Given the description of an element on the screen output the (x, y) to click on. 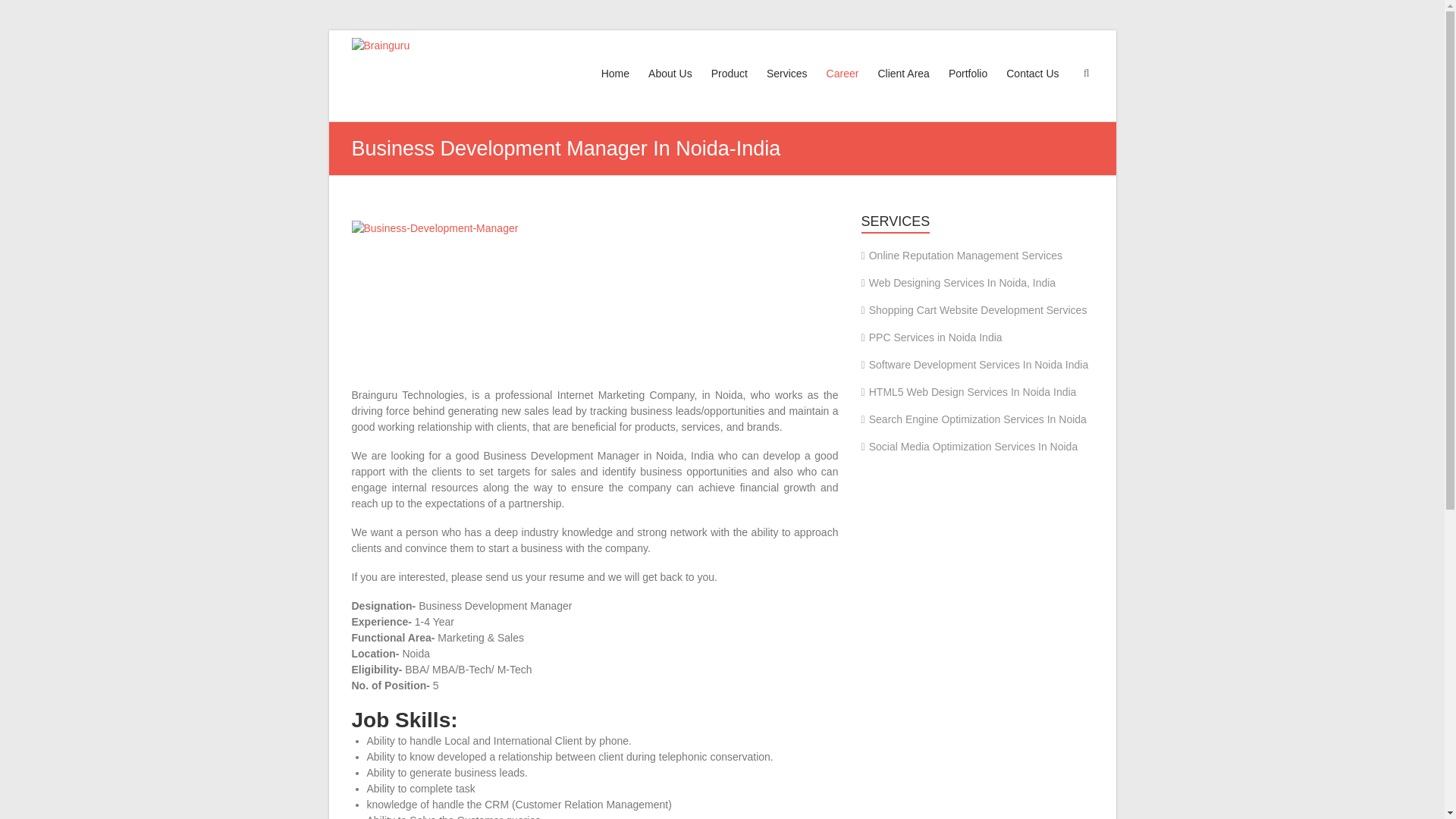
Web Designing Services In Noida, India (959, 282)
Online Reputation Management Services (961, 255)
